Given the description of an element on the screen output the (x, y) to click on. 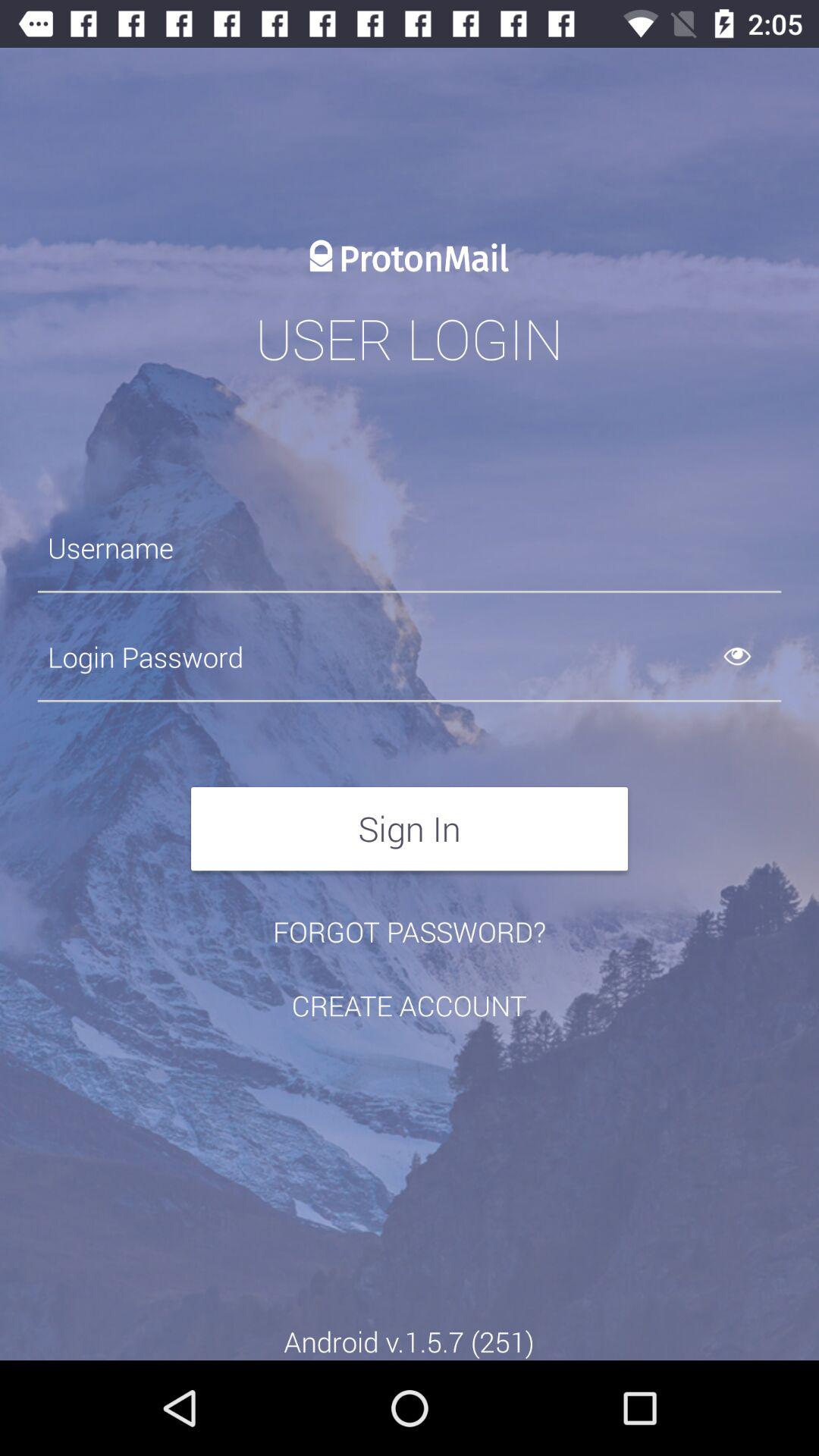
select the forgot password? item (409, 931)
